Given the description of an element on the screen output the (x, y) to click on. 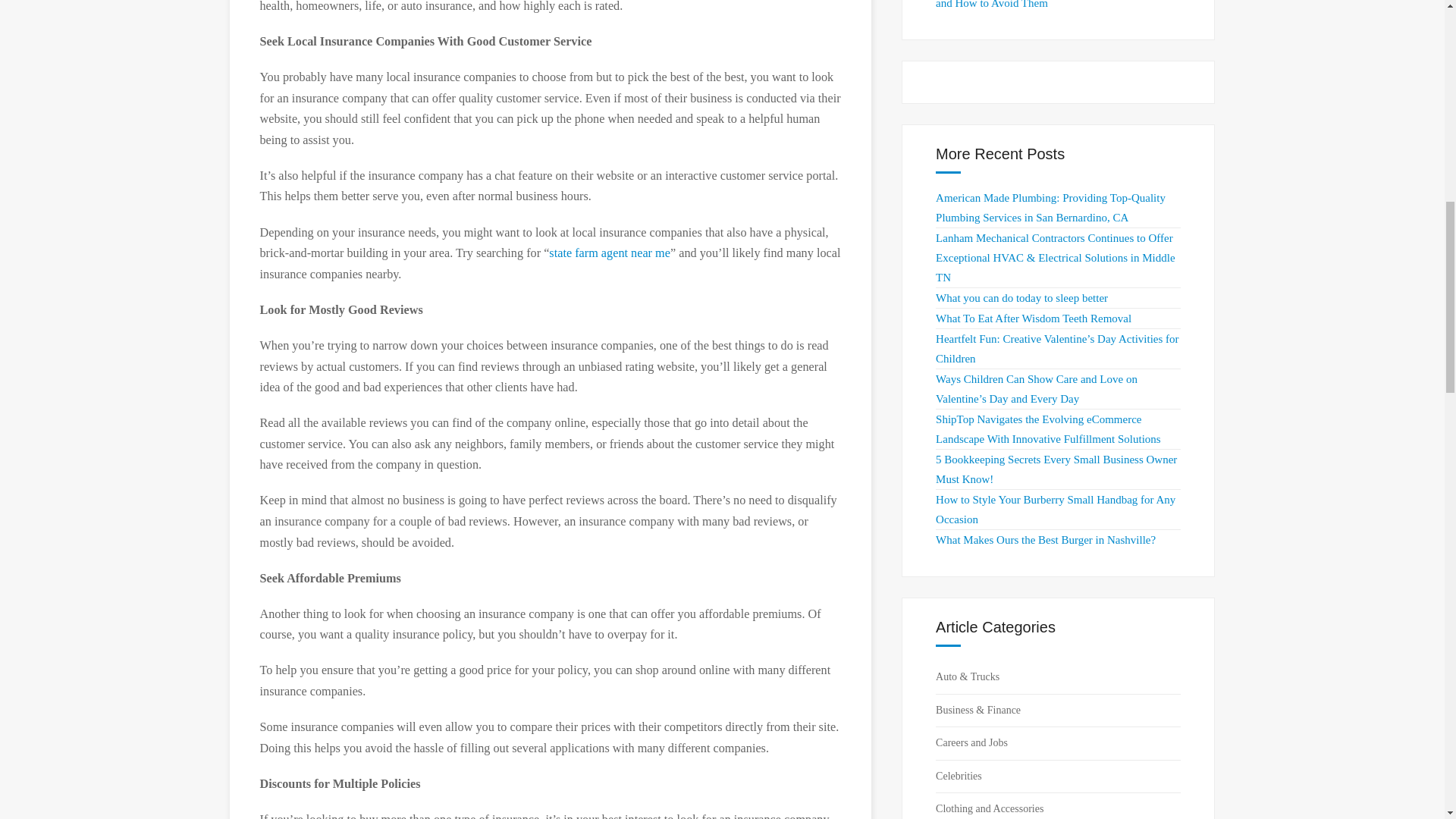
What To Eat After Wisdom Teeth Removal (1033, 318)
state farm agent near me (608, 253)
What you can do today to sleep better (1022, 297)
